Given the description of an element on the screen output the (x, y) to click on. 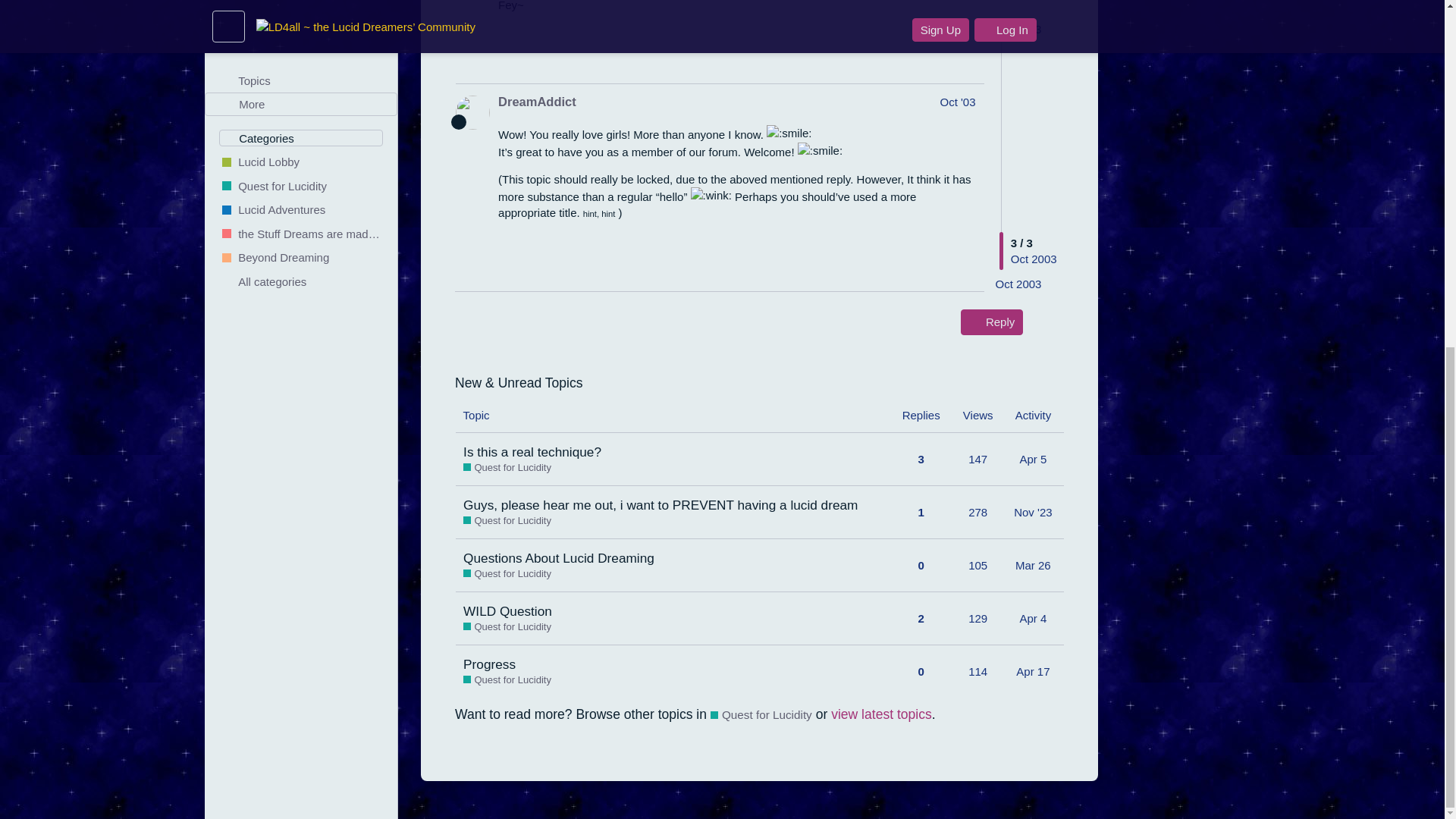
Keyboard Shortcuts (378, 208)
